Given the description of an element on the screen output the (x, y) to click on. 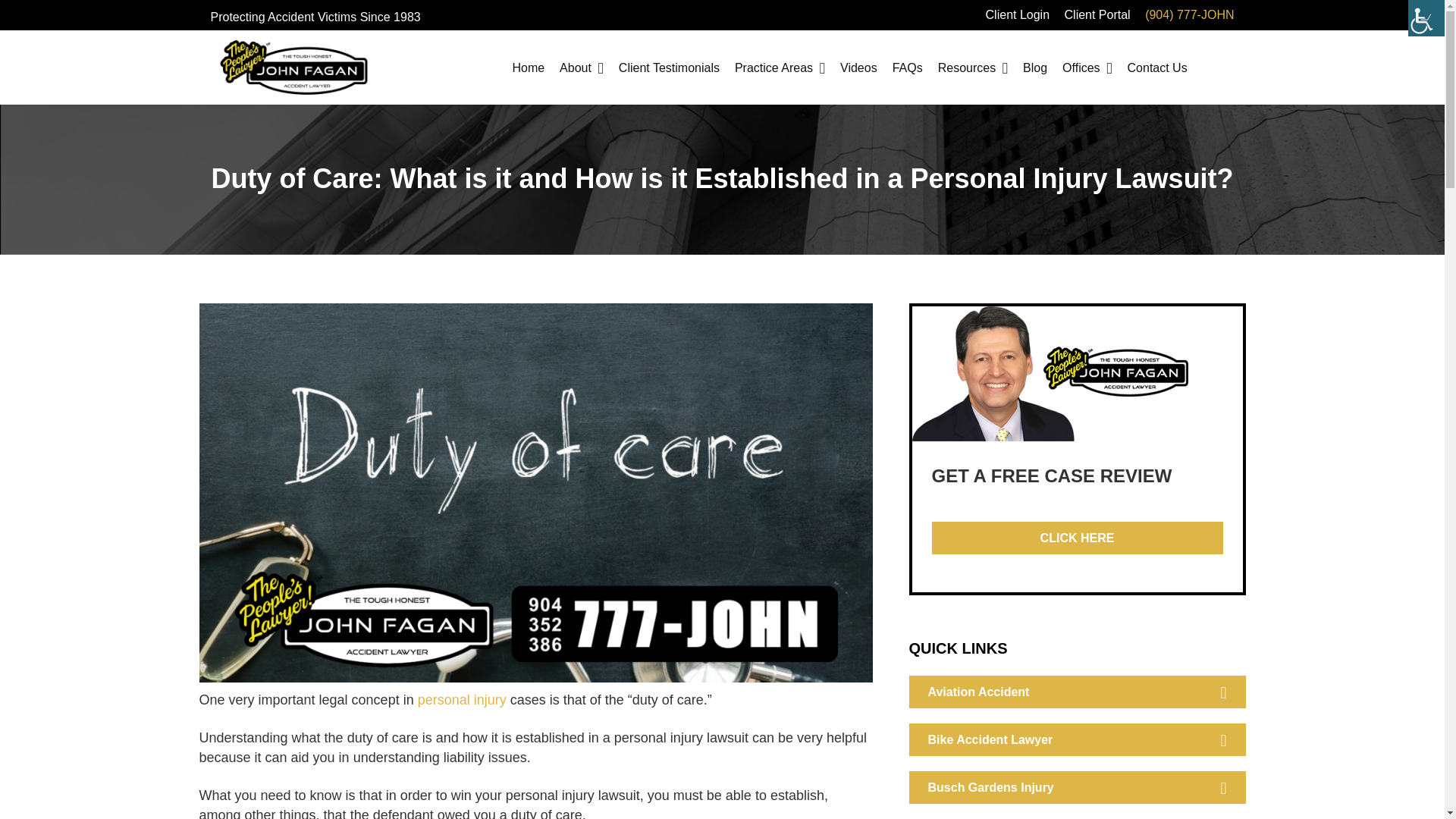
Client Portal (1097, 14)
Client Testimonials (668, 67)
Client Login (1017, 14)
Practice Areas (779, 67)
